Given the description of an element on the screen output the (x, y) to click on. 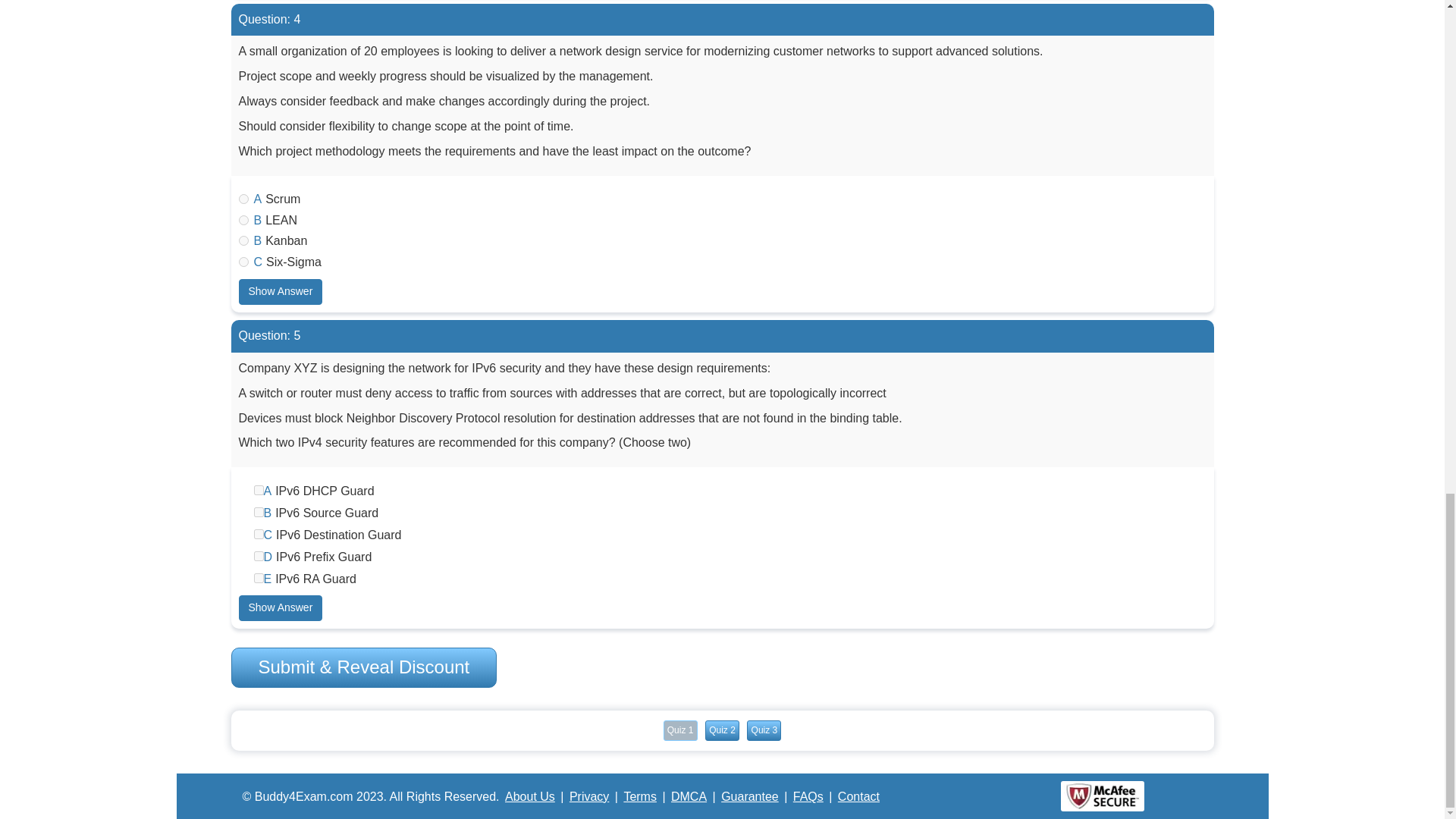
C (242, 261)
Privacy (588, 796)
Quiz 3 (763, 730)
Quiz 3 (763, 730)
Quiz 2 (721, 730)
B (258, 511)
A (258, 490)
Quiz 1 (680, 730)
Terms (639, 796)
B (242, 240)
